Given the description of an element on the screen output the (x, y) to click on. 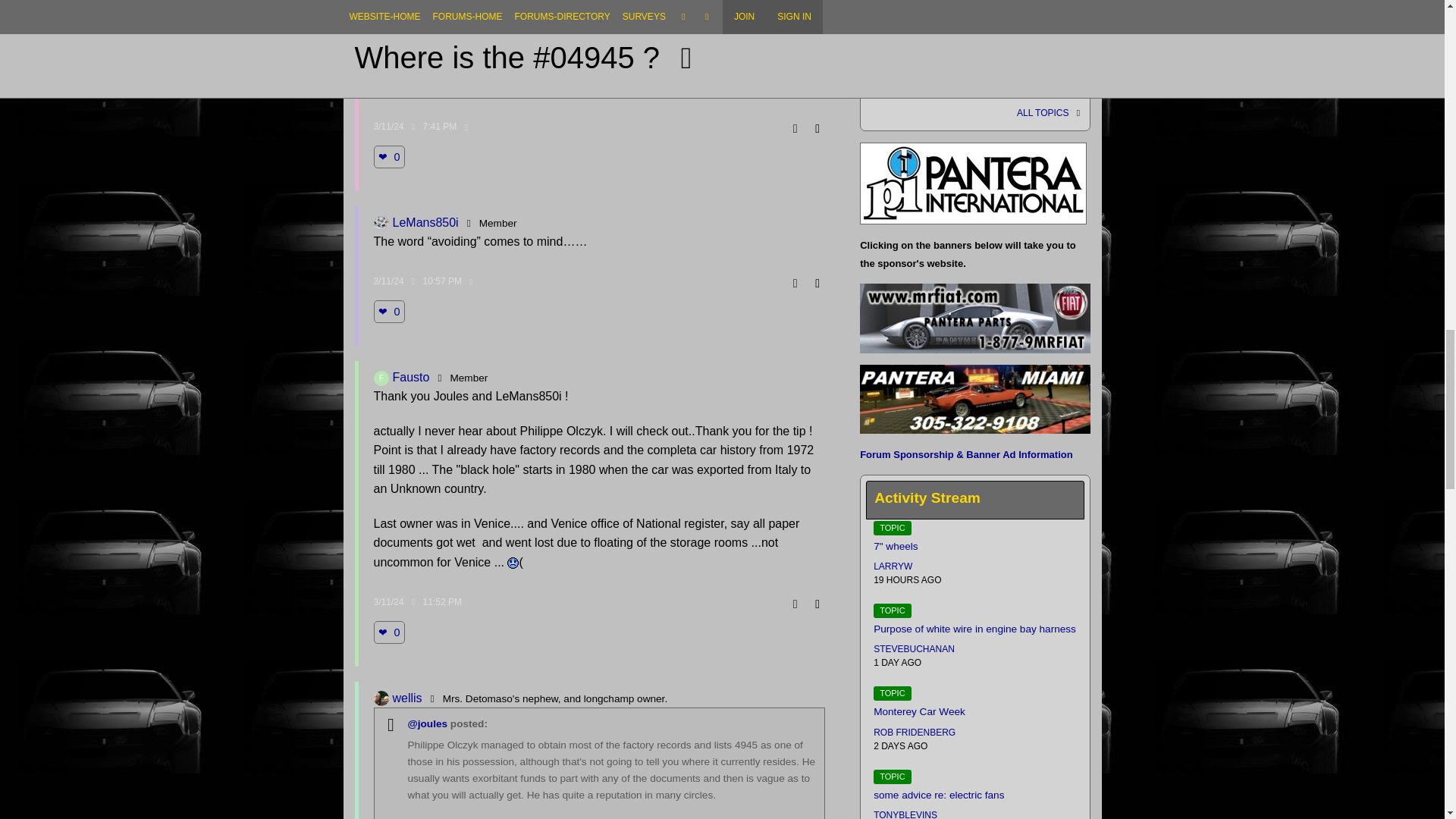
F (380, 378)
